Given the description of an element on the screen output the (x, y) to click on. 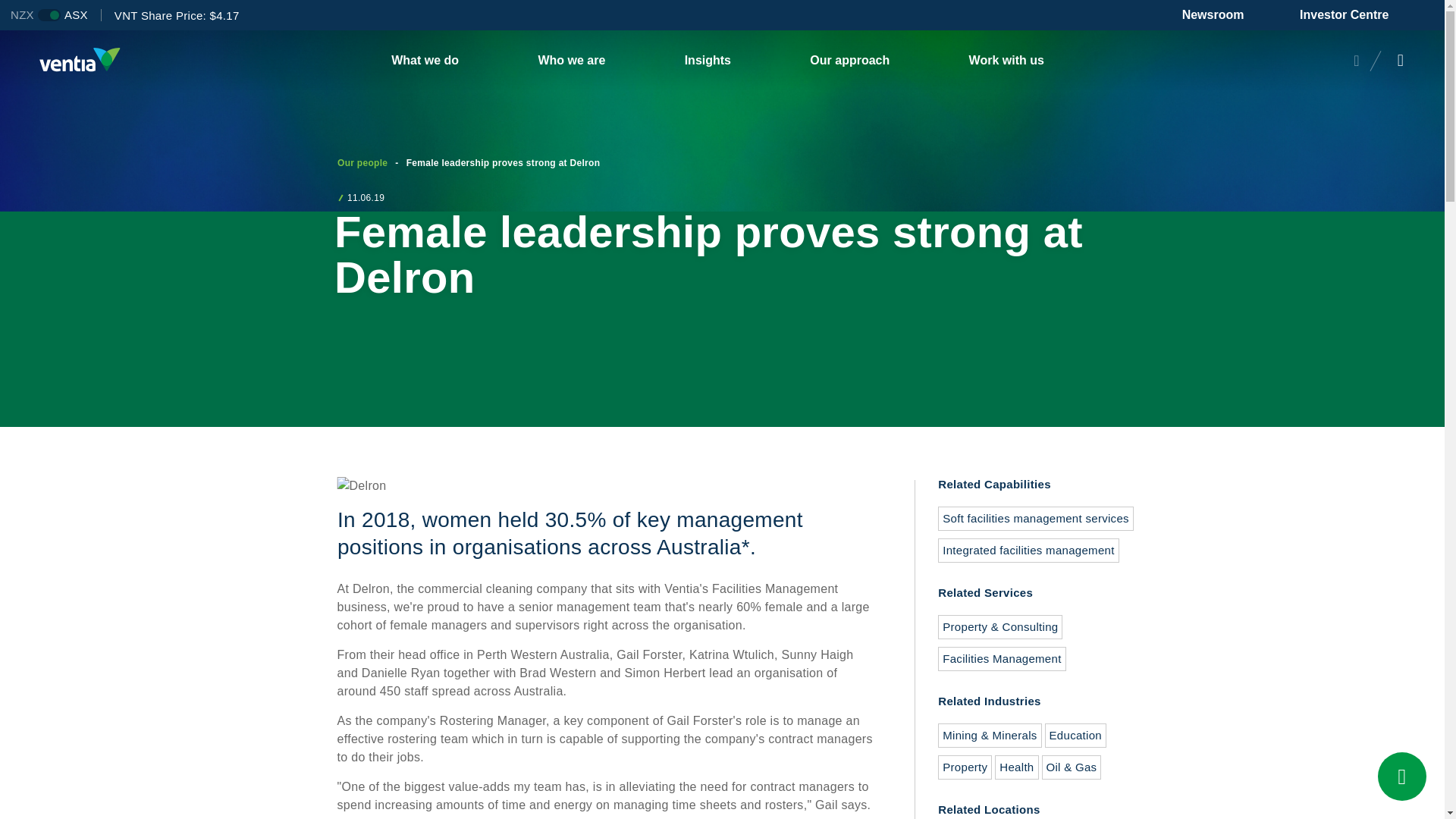
Related Industries (1021, 750)
Related Services (1021, 642)
Newsroom (1241, 14)
Related Locations (1021, 812)
Related Capabilities (1021, 533)
